Given the description of an element on the screen output the (x, y) to click on. 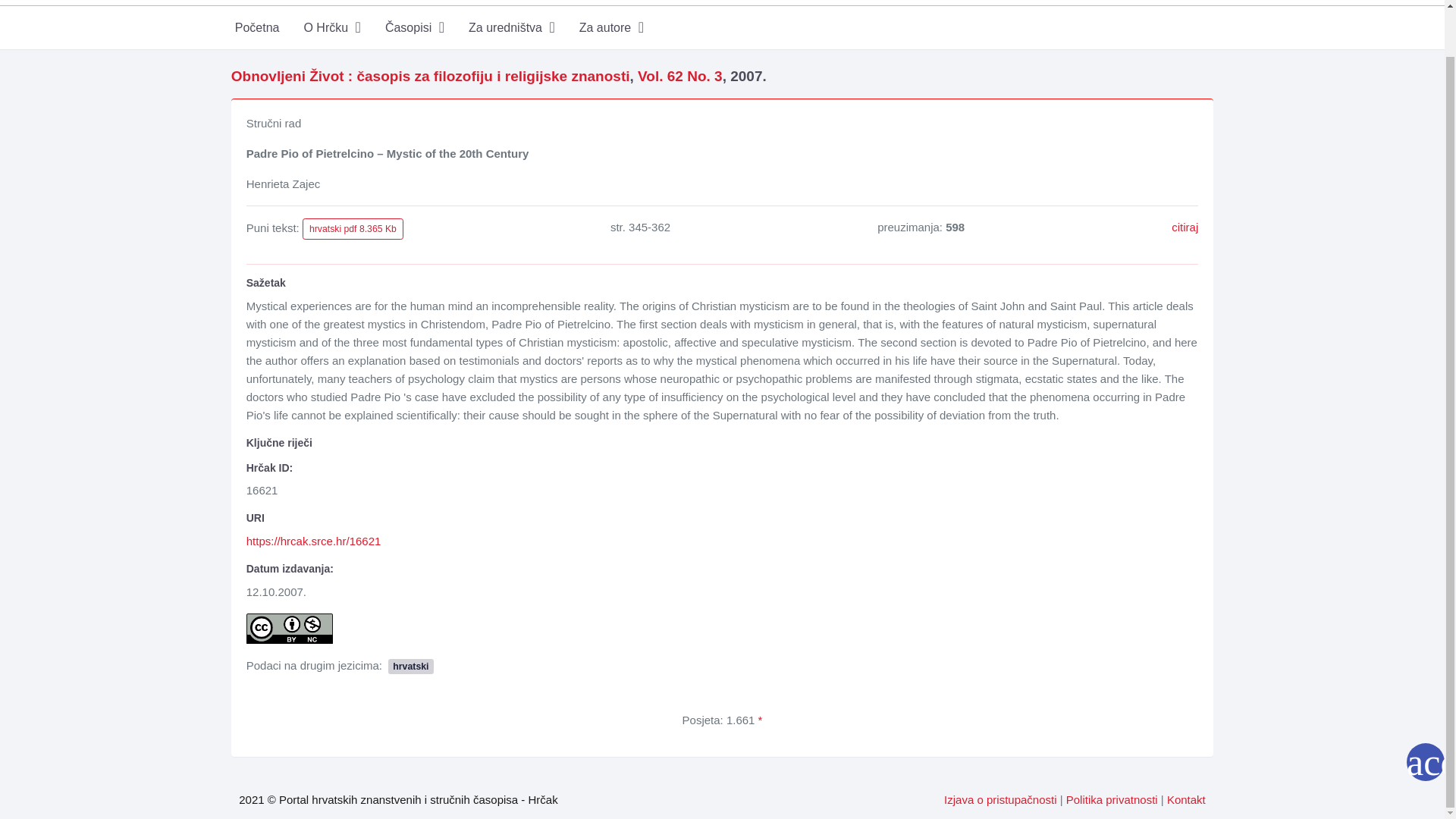
Vol. 62 No. 3 (679, 75)
Za autore (611, 27)
hrvatski pdf 8.365 Kb (352, 228)
hrvatski (410, 665)
citiraj (1185, 226)
